Given the description of an element on the screen output the (x, y) to click on. 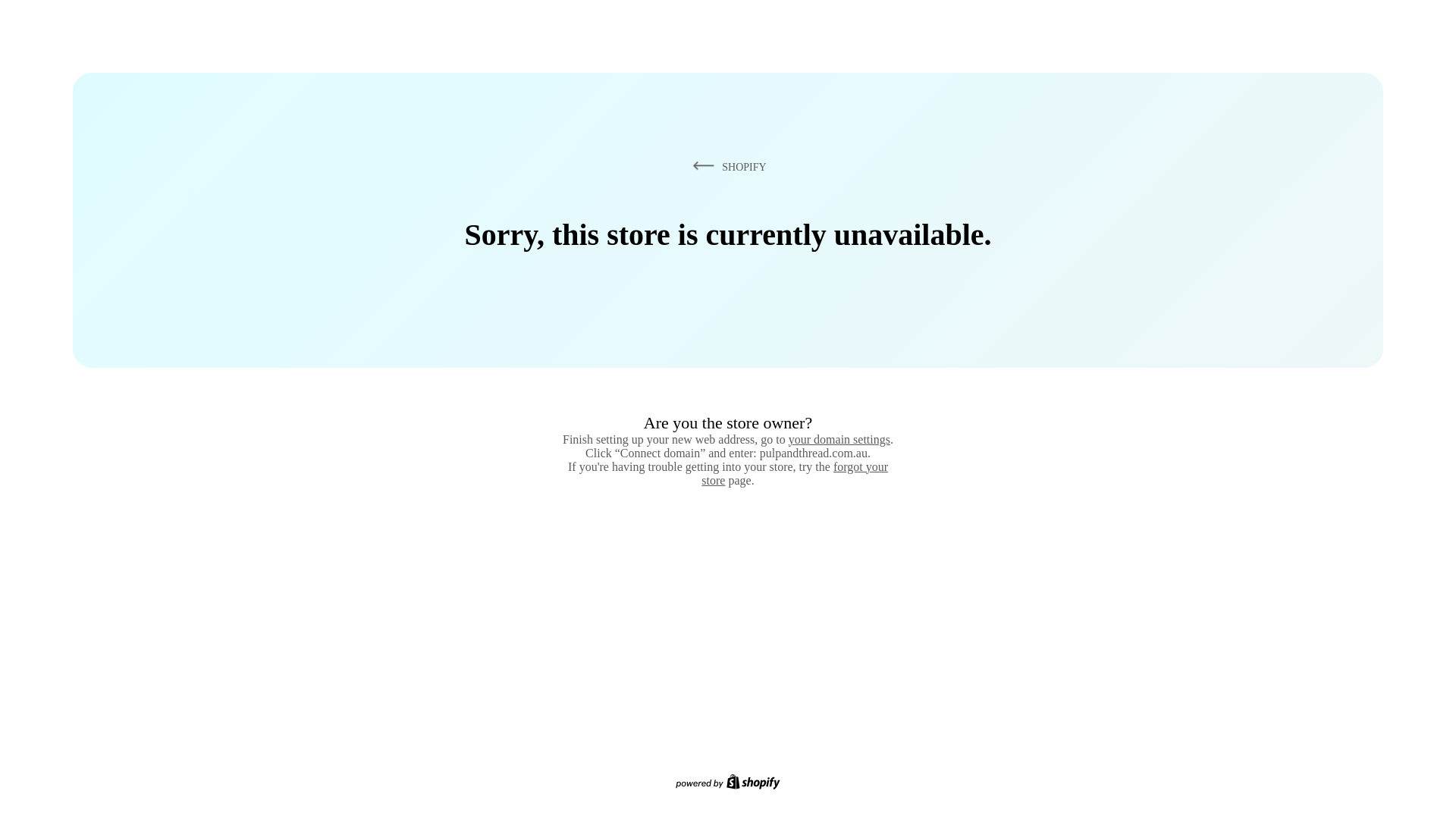
your domain settings (839, 439)
forgot your store (794, 473)
SHOPIFY (726, 166)
